Given the description of an element on the screen output the (x, y) to click on. 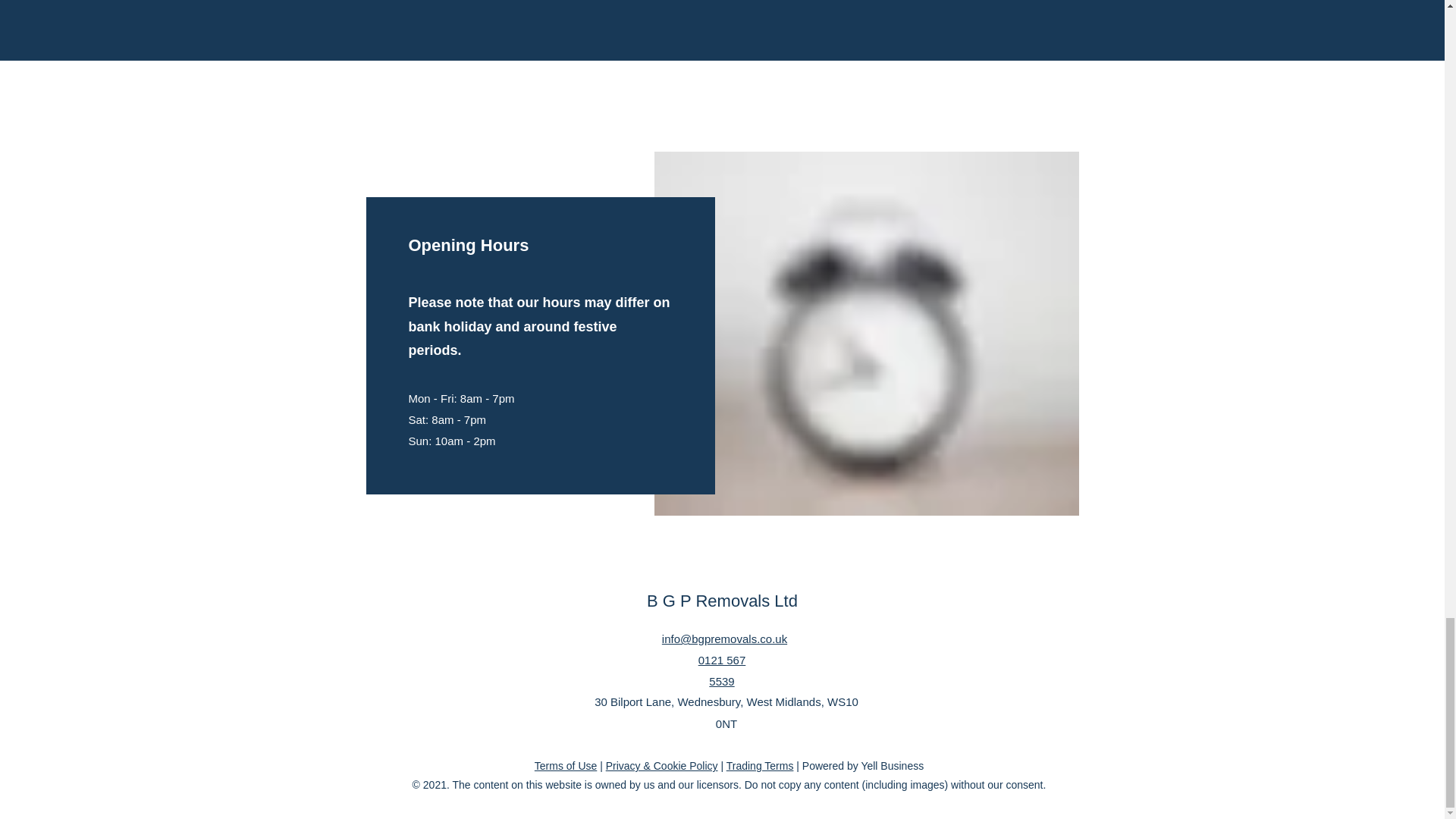
Trading Terms (759, 766)
0121 567 5539 (721, 670)
B G P Removals Ltd (721, 600)
Terms of Use (565, 766)
